Given the description of an element on the screen output the (x, y) to click on. 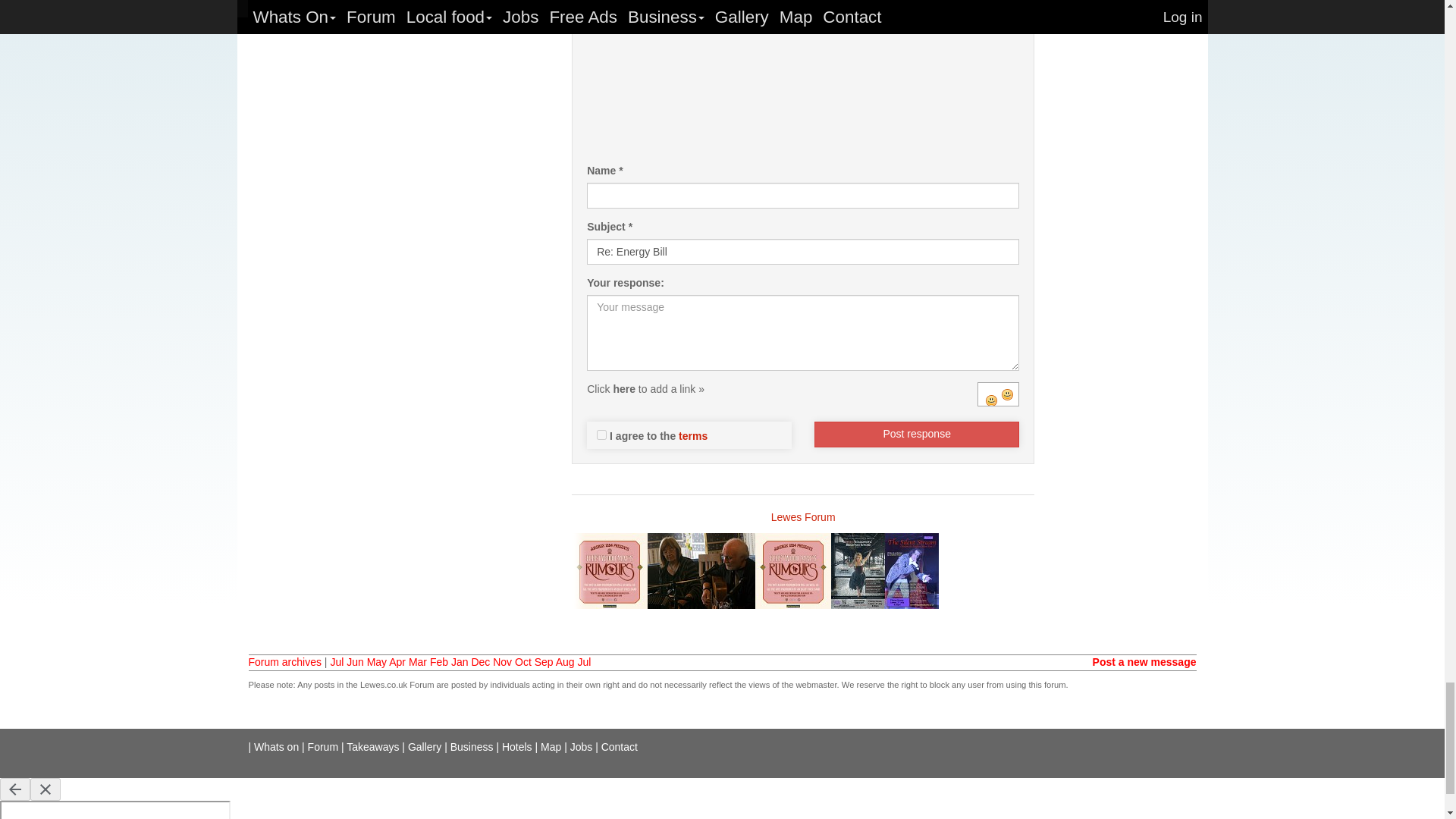
Re: Energy Bill (802, 251)
Takeaways (372, 746)
